Given the description of an element on the screen output the (x, y) to click on. 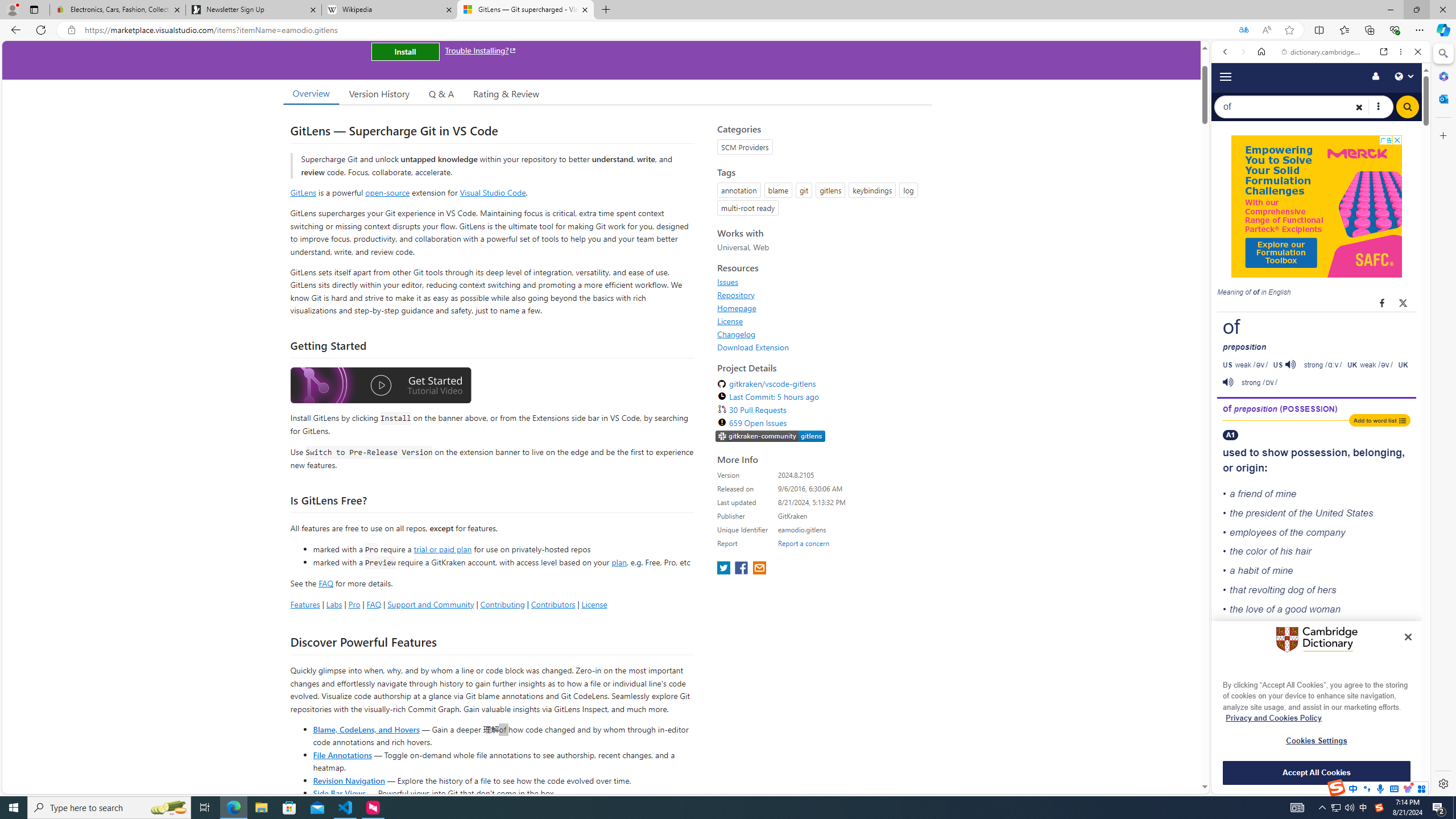
share extension on email (759, 568)
https://slack.gitkraken.com// (769, 436)
members (1292, 701)
Cookies Settings (1316, 740)
senior (1257, 701)
Web scope (1230, 102)
Advertisement (1316, 206)
Accept All Cookies (1316, 772)
plays (1298, 627)
